Given the description of an element on the screen output the (x, y) to click on. 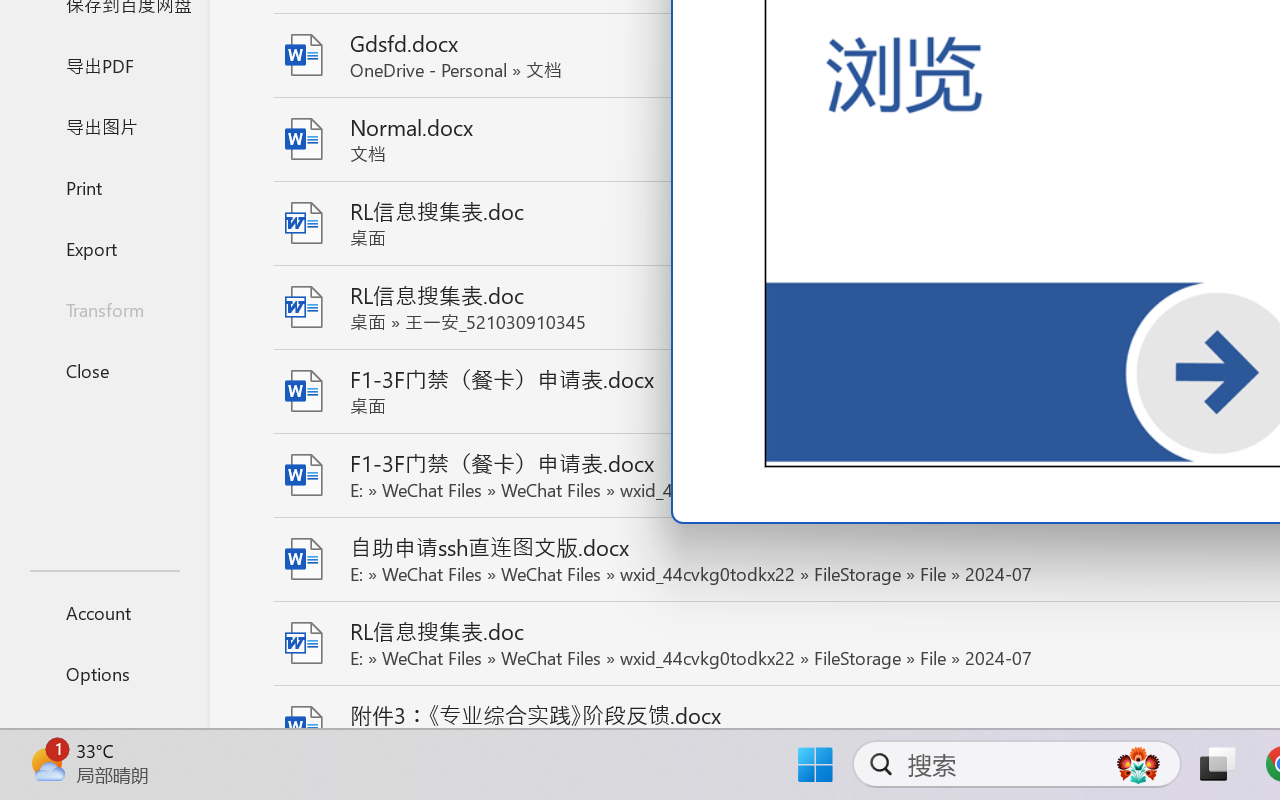
Export (104, 248)
Print (104, 186)
Options (104, 673)
Transform (104, 309)
Account (104, 612)
